Given the description of an element on the screen output the (x, y) to click on. 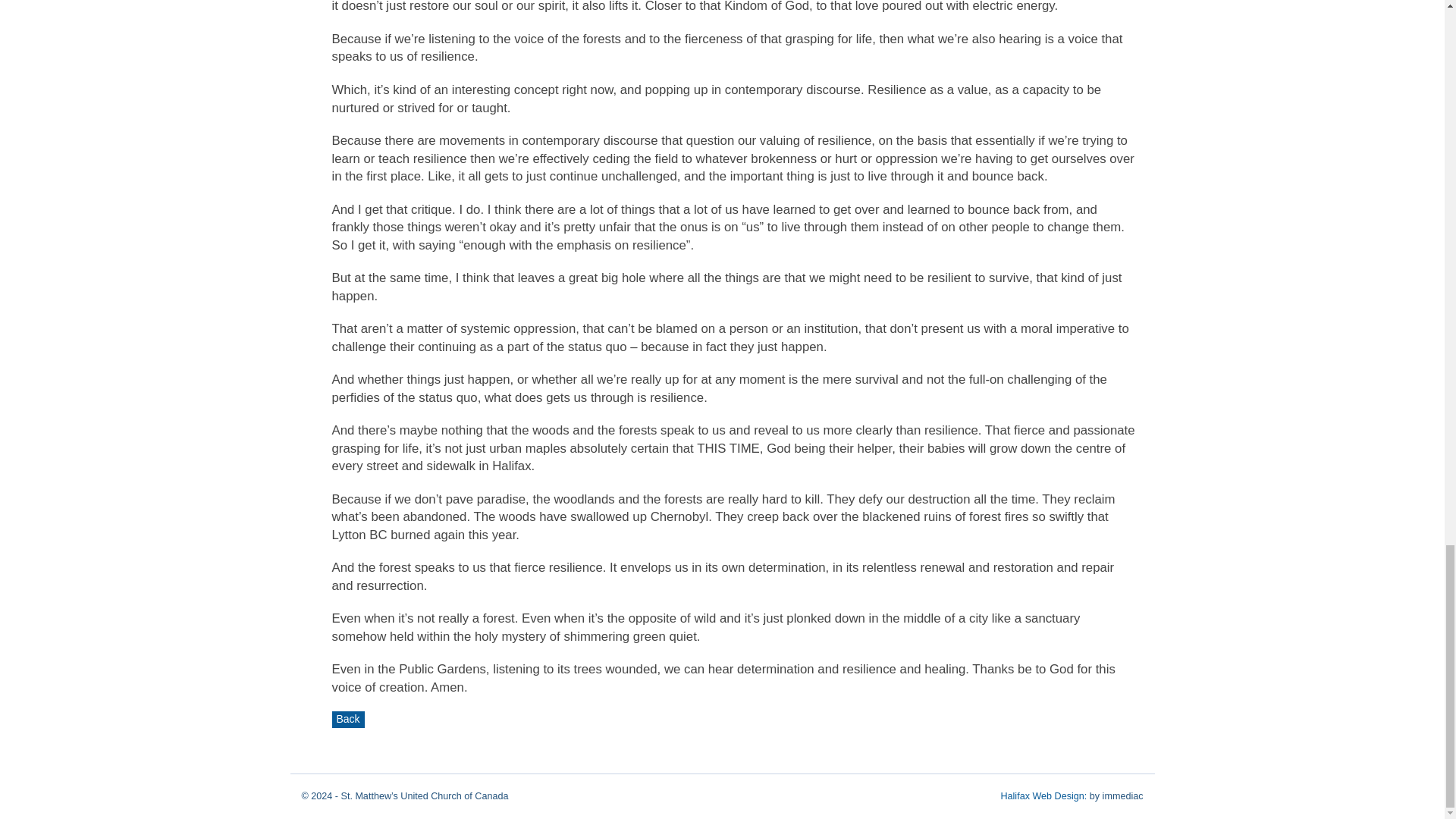
Back (348, 719)
Halifax Web Design: (1043, 796)
